Given the description of an element on the screen output the (x, y) to click on. 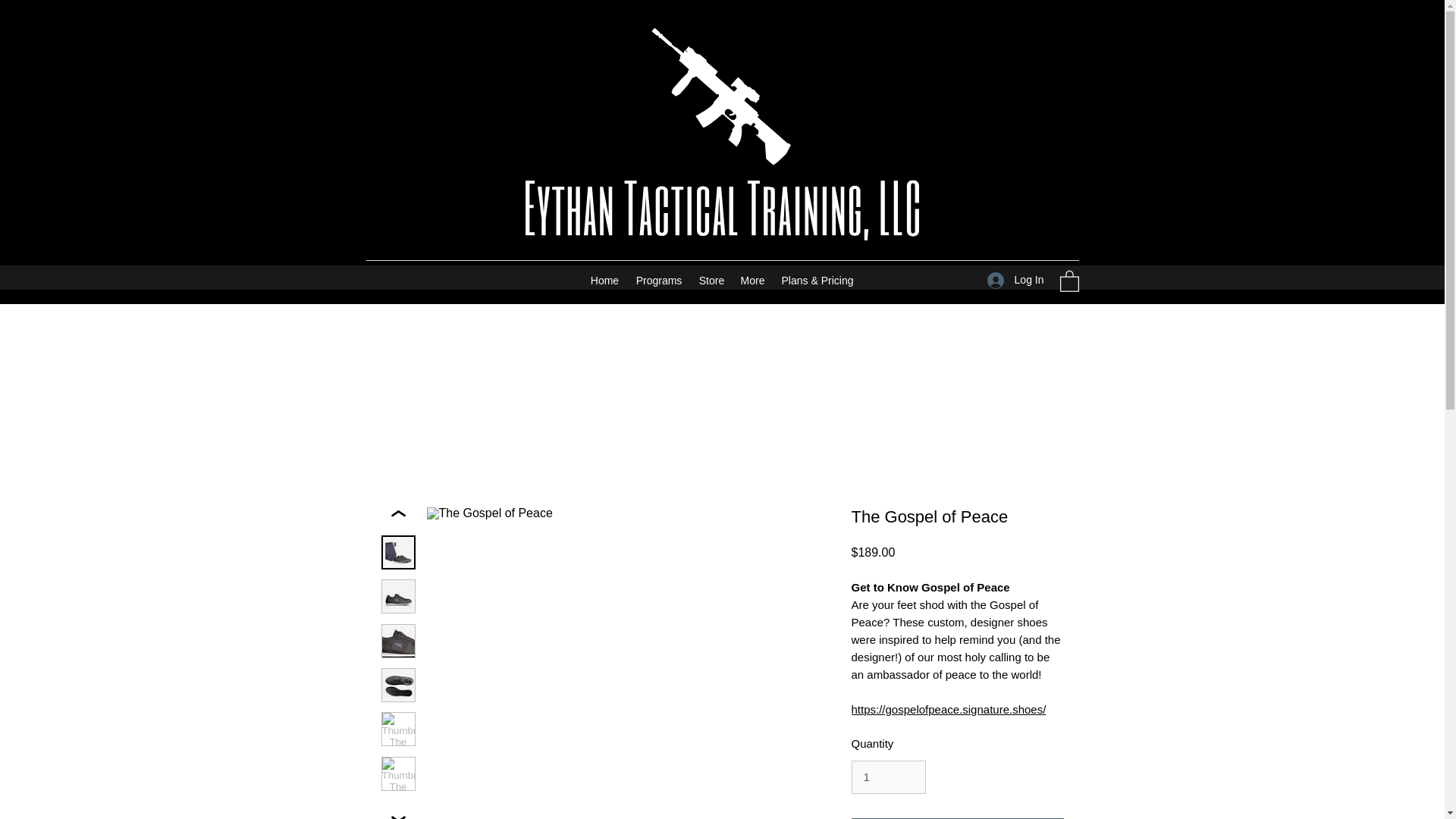
Home (604, 280)
Programs (658, 280)
Log In (1015, 280)
Store (711, 280)
1 (887, 776)
More (752, 280)
